Given the description of an element on the screen output the (x, y) to click on. 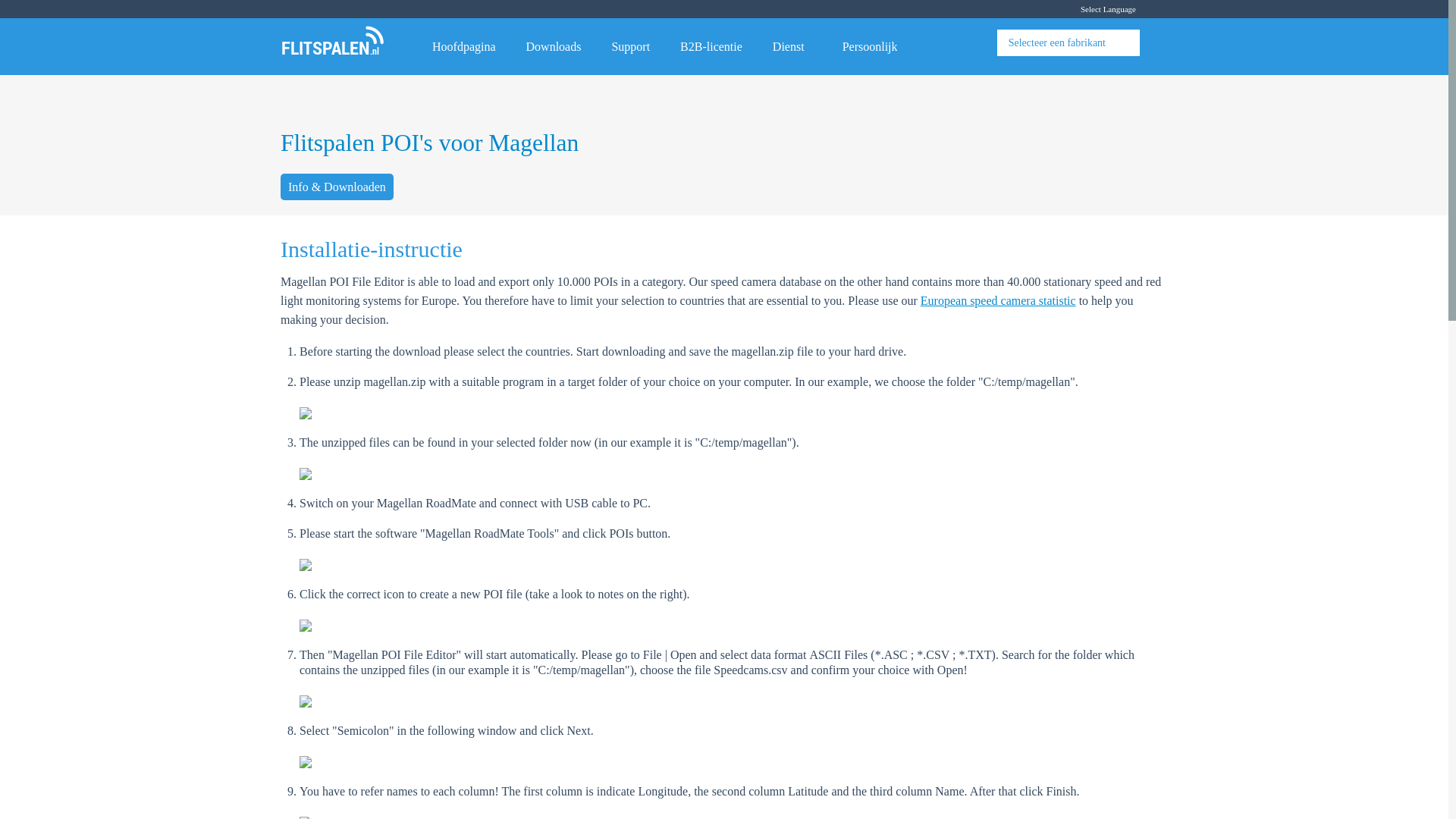
Persoonlijk (873, 44)
Downloads (553, 44)
Selecteer een fabrikant (1057, 42)
Select Language (1121, 9)
Dienst (792, 44)
B2B-licentie (711, 44)
Flitspalen POI's voor Magellan (429, 142)
Hoofdpagina (463, 44)
Support (630, 44)
